Given the description of an element on the screen output the (x, y) to click on. 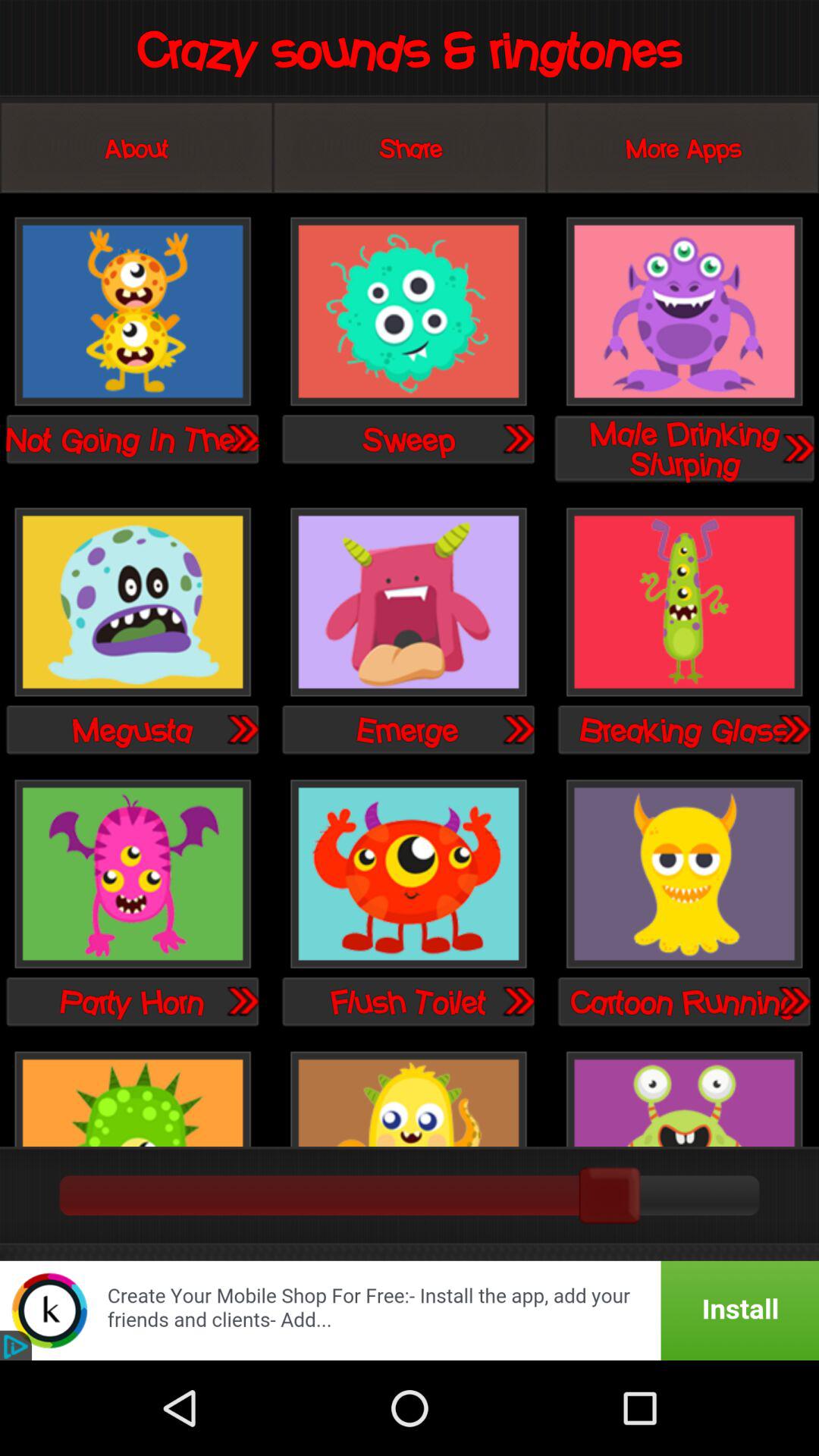
play a noise (684, 1096)
